Given the description of an element on the screen output the (x, y) to click on. 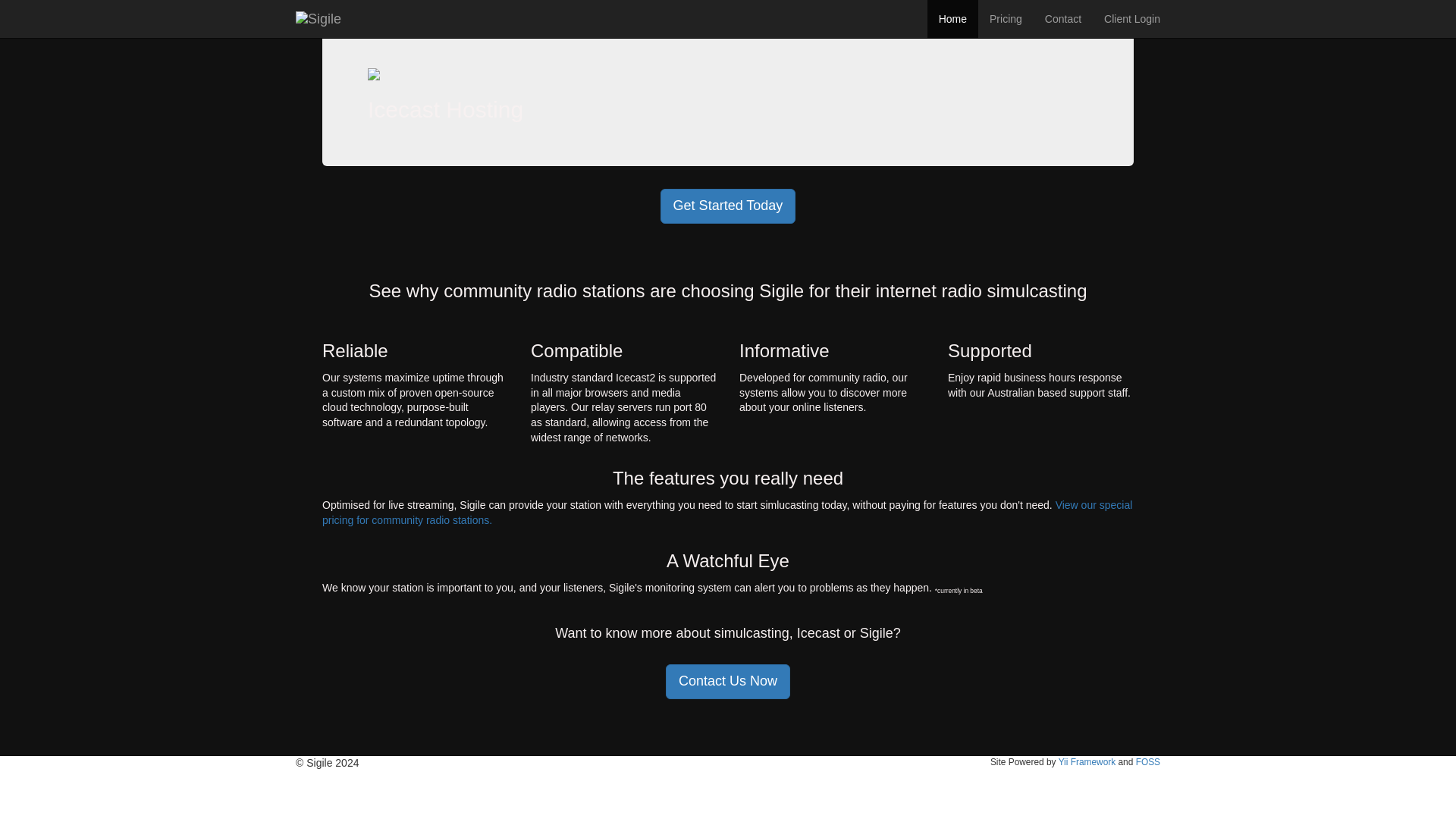
FOSS (1147, 761)
Client Login (1132, 18)
Get Started Today (728, 206)
Pricing (1005, 18)
Contact (1063, 18)
View our special pricing for community radio stations. (726, 512)
Home (952, 18)
Contact Us Now (727, 681)
Yii Framework (1087, 761)
